Given the description of an element on the screen output the (x, y) to click on. 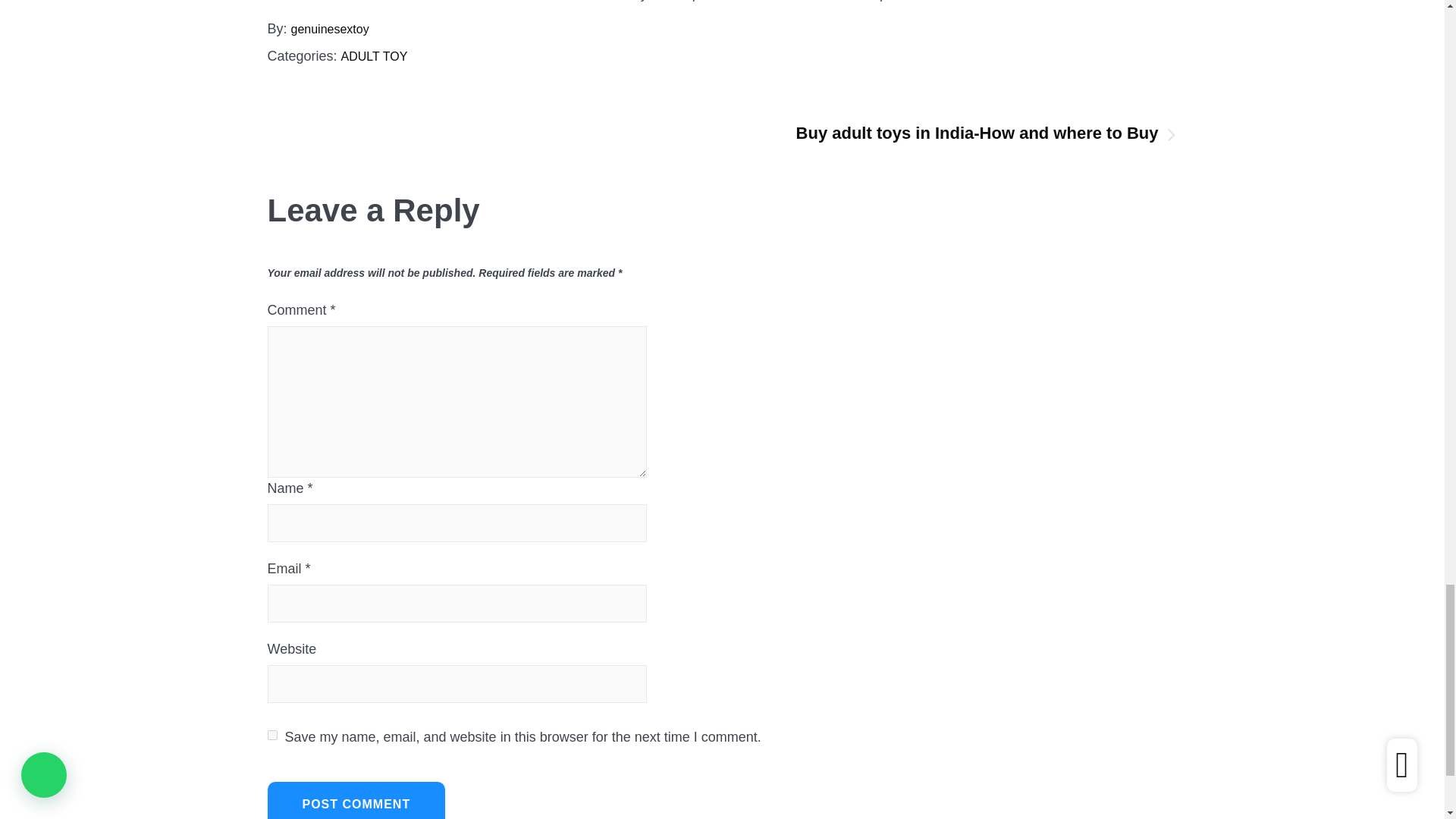
Post Comment (355, 800)
yes (271, 735)
